Given the description of an element on the screen output the (x, y) to click on. 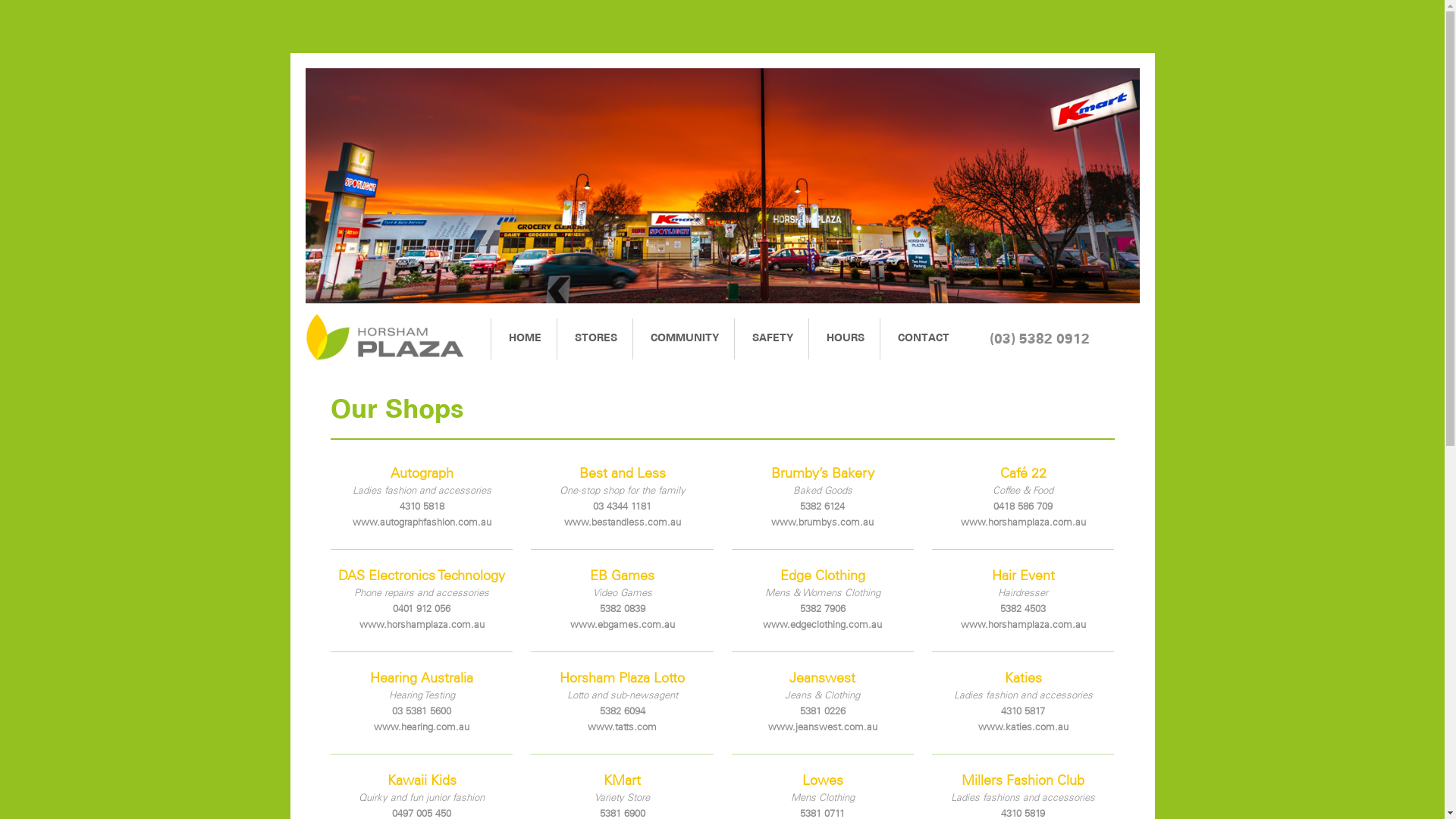
03 5381 5600 Element type: text (421, 710)
HOME Element type: text (523, 338)
Jeanswest Element type: text (822, 678)
Millers Fashion Club Element type: text (1022, 780)
Kawaii Kids Element type: text (421, 780)
Hair Event Element type: text (1022, 575)
CONTACT Element type: text (921, 338)
STORES Element type: text (593, 338)
DAS Electronics Technology Element type: text (421, 575)
Autograph Element type: text (421, 473)
EB Games Element type: text (621, 575)
COMMUNITY Element type: text (682, 338)
HOURS Element type: text (843, 338)
KMart Element type: text (621, 780)
Hearing Australia Element type: text (421, 678)
SAFETY Element type: text (770, 338)
Edge Clothing Element type: text (822, 575)
Horsham Plaza Lotto Element type: text (621, 678)
Best and Less Element type: text (621, 473)
(03) 5382 0912 Element type: text (1063, 338)
Lowes Element type: text (822, 780)
Katies Element type: text (1022, 678)
